Given the description of an element on the screen output the (x, y) to click on. 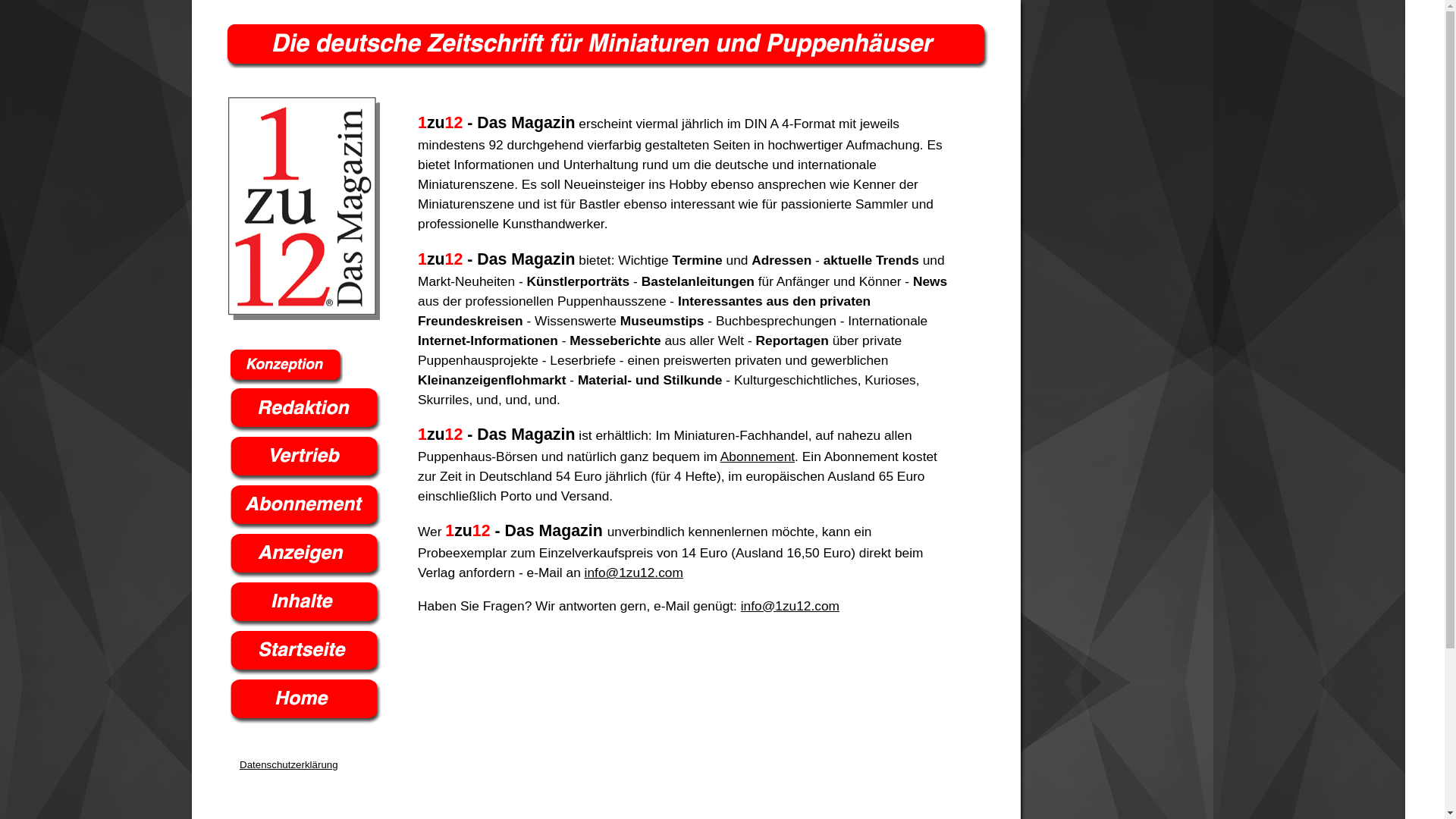
Abonnement Element type: text (757, 456)
info@1zu12.com Element type: text (789, 605)
info@1zu12.com Element type: text (633, 572)
